Given the description of an element on the screen output the (x, y) to click on. 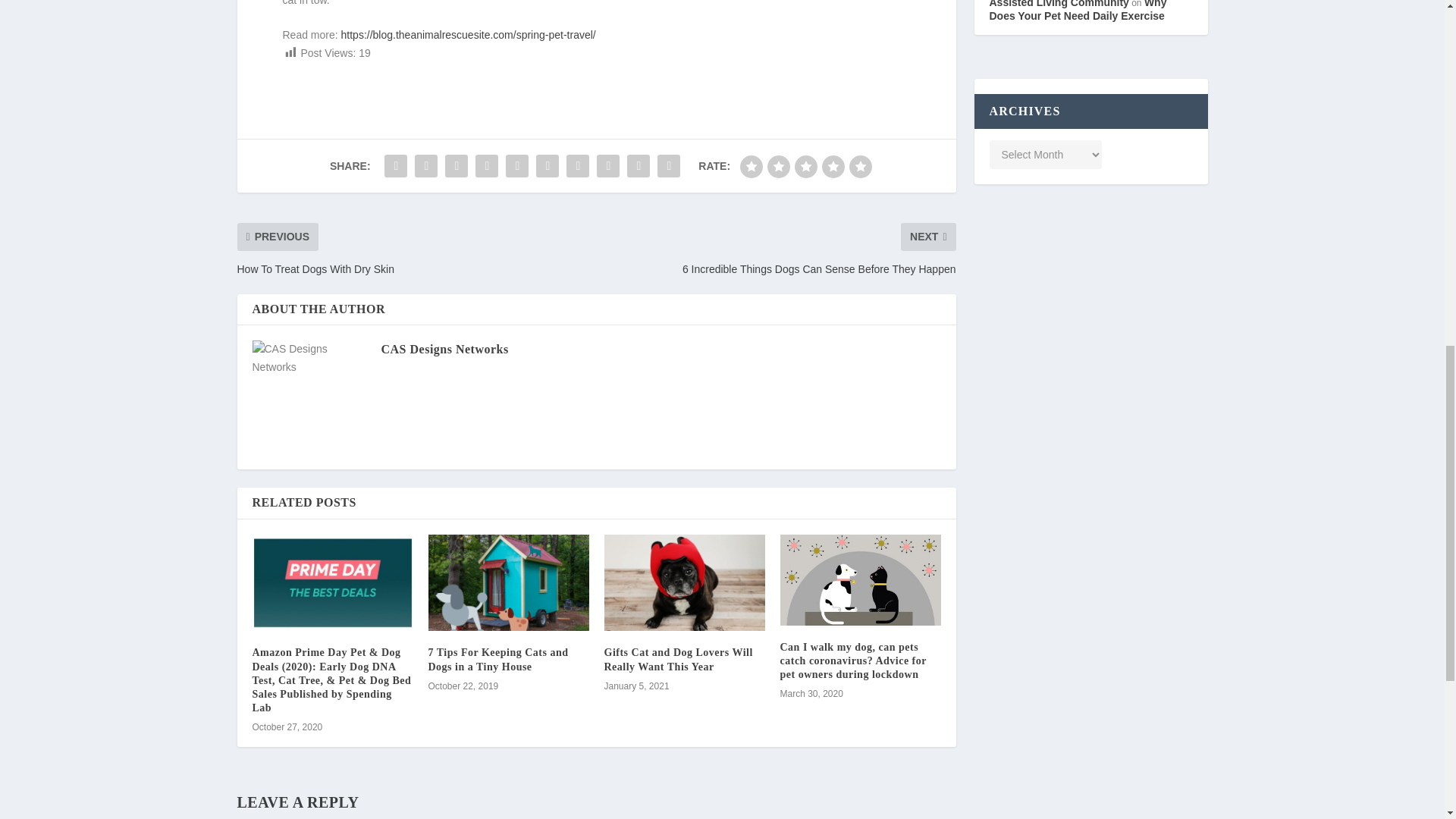
CAS Designs Networks (444, 349)
7 Tips For Keeping Cats and Dogs in a Tiny House (497, 659)
